Given the description of an element on the screen output the (x, y) to click on. 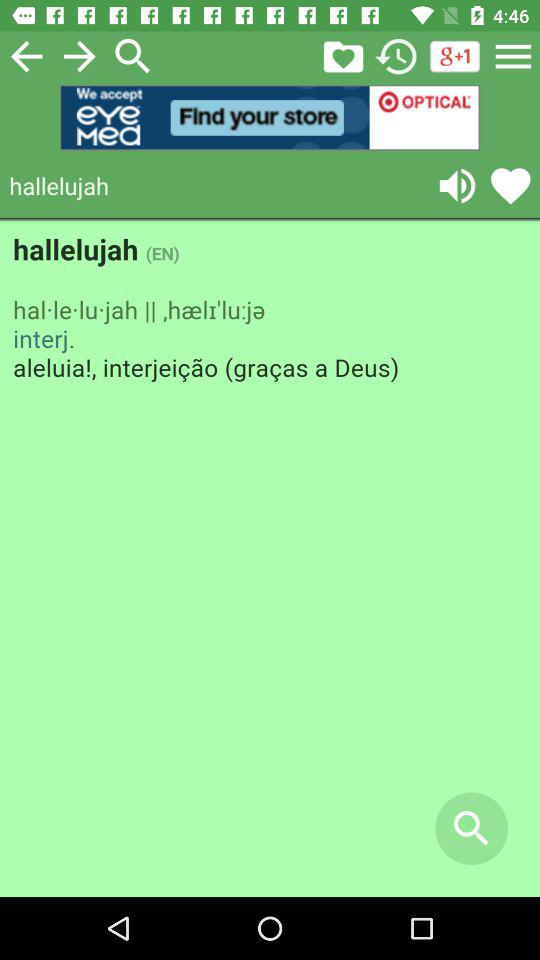
back (26, 56)
